Given the description of an element on the screen output the (x, y) to click on. 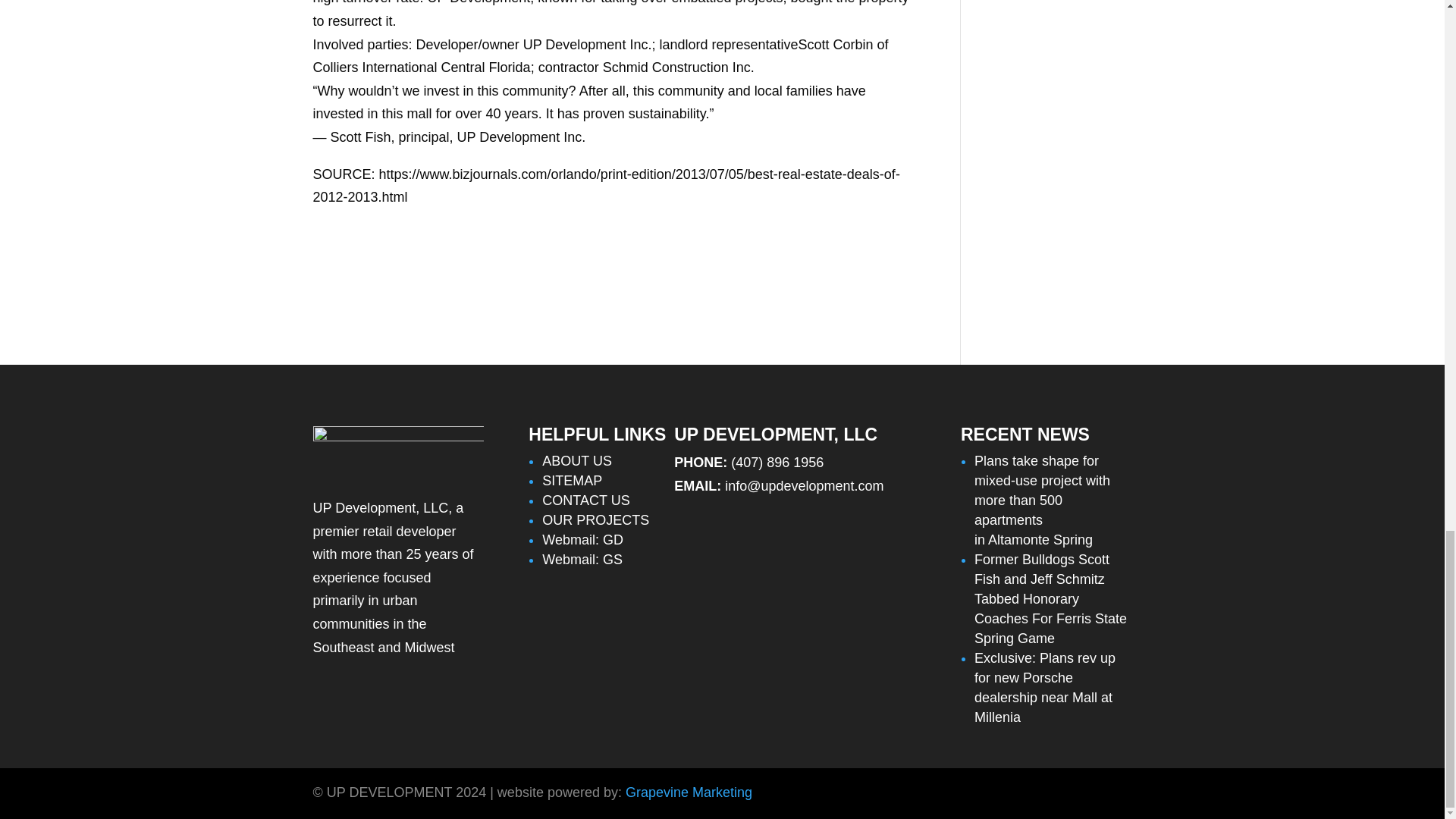
SITEMAP (571, 480)
ABOUT US (576, 460)
Webmail: GD (582, 539)
logo-WHT (398, 449)
OUR PROJECTS (595, 519)
CONTACT US (584, 500)
Grapevine Marketing (689, 792)
Webmail: GS (582, 559)
